Given the description of an element on the screen output the (x, y) to click on. 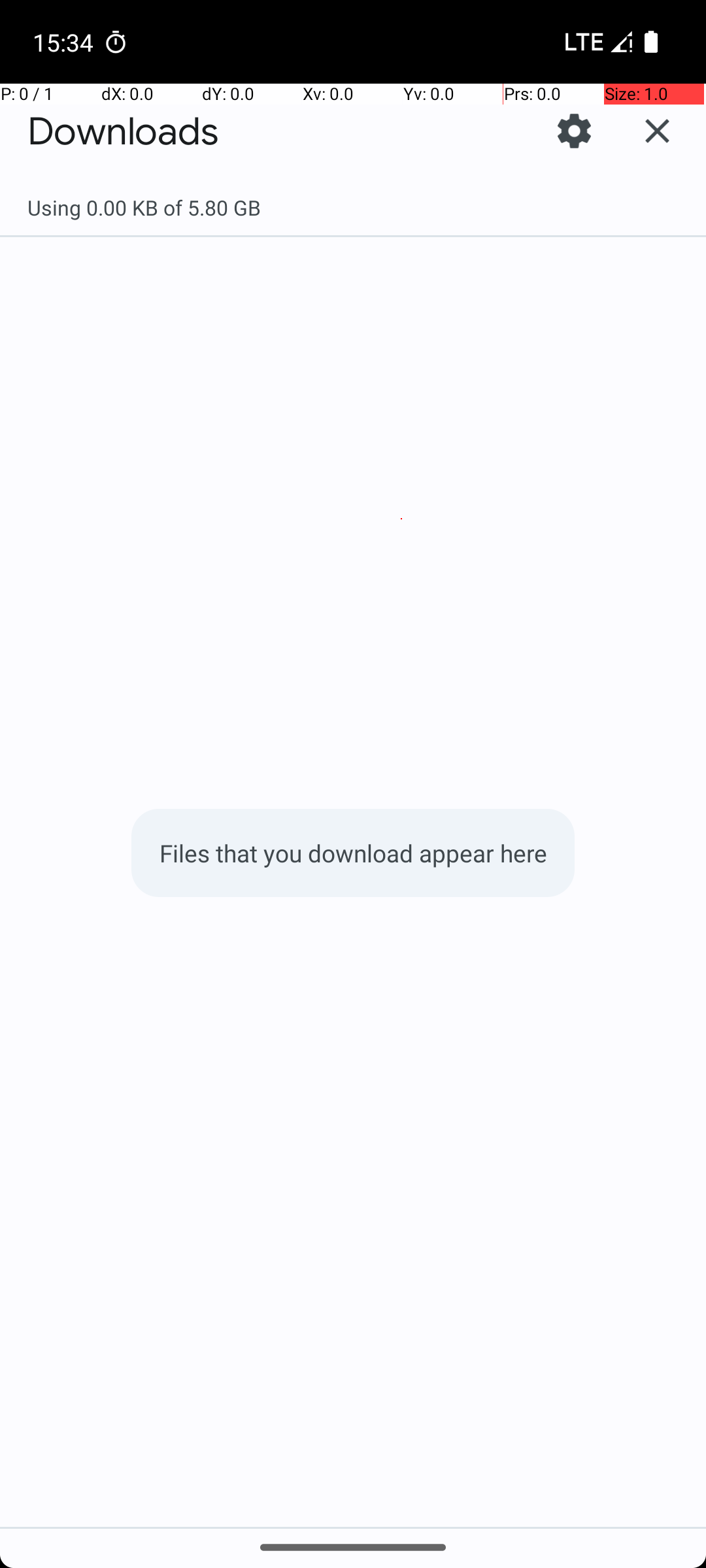
Files that you download appear here Element type: android.widget.TextView (352, 852)
Using 0.00 KB of 5.80 GB Element type: android.widget.TextView (353, 207)
